Given the description of an element on the screen output the (x, y) to click on. 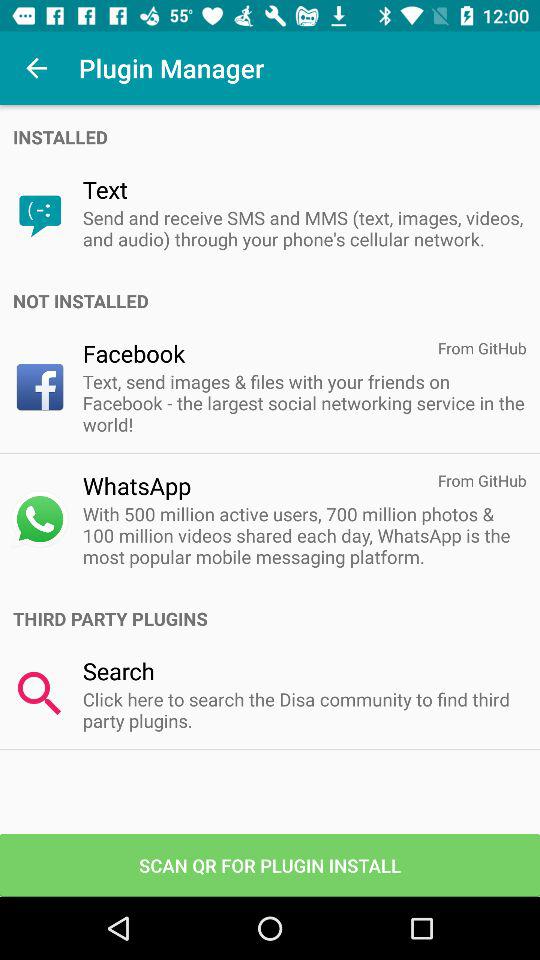
jump until the send and receive icon (304, 228)
